Given the description of an element on the screen output the (x, y) to click on. 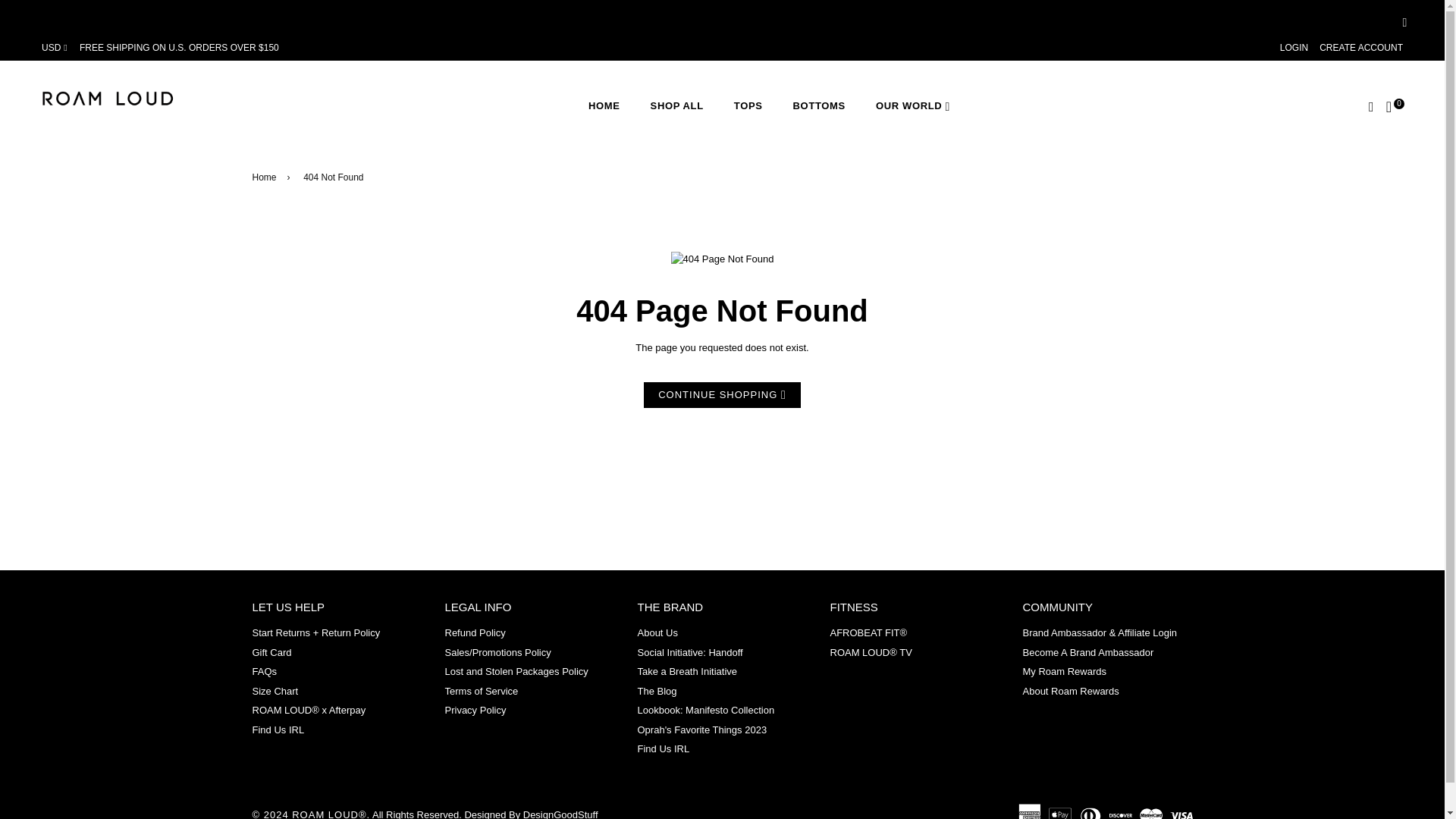
OUR WORLD (912, 105)
FAQs (263, 671)
TOPS (748, 105)
Size Chart (274, 690)
Back to the home page (266, 177)
LOGIN (1293, 47)
BOTTOMS (818, 105)
CREATE ACCOUNT (1361, 47)
CONTINUE SHOPPING (721, 395)
HOME (603, 105)
Gift Card (271, 652)
Home (266, 177)
SHOP ALL (676, 105)
